Given the description of an element on the screen output the (x, y) to click on. 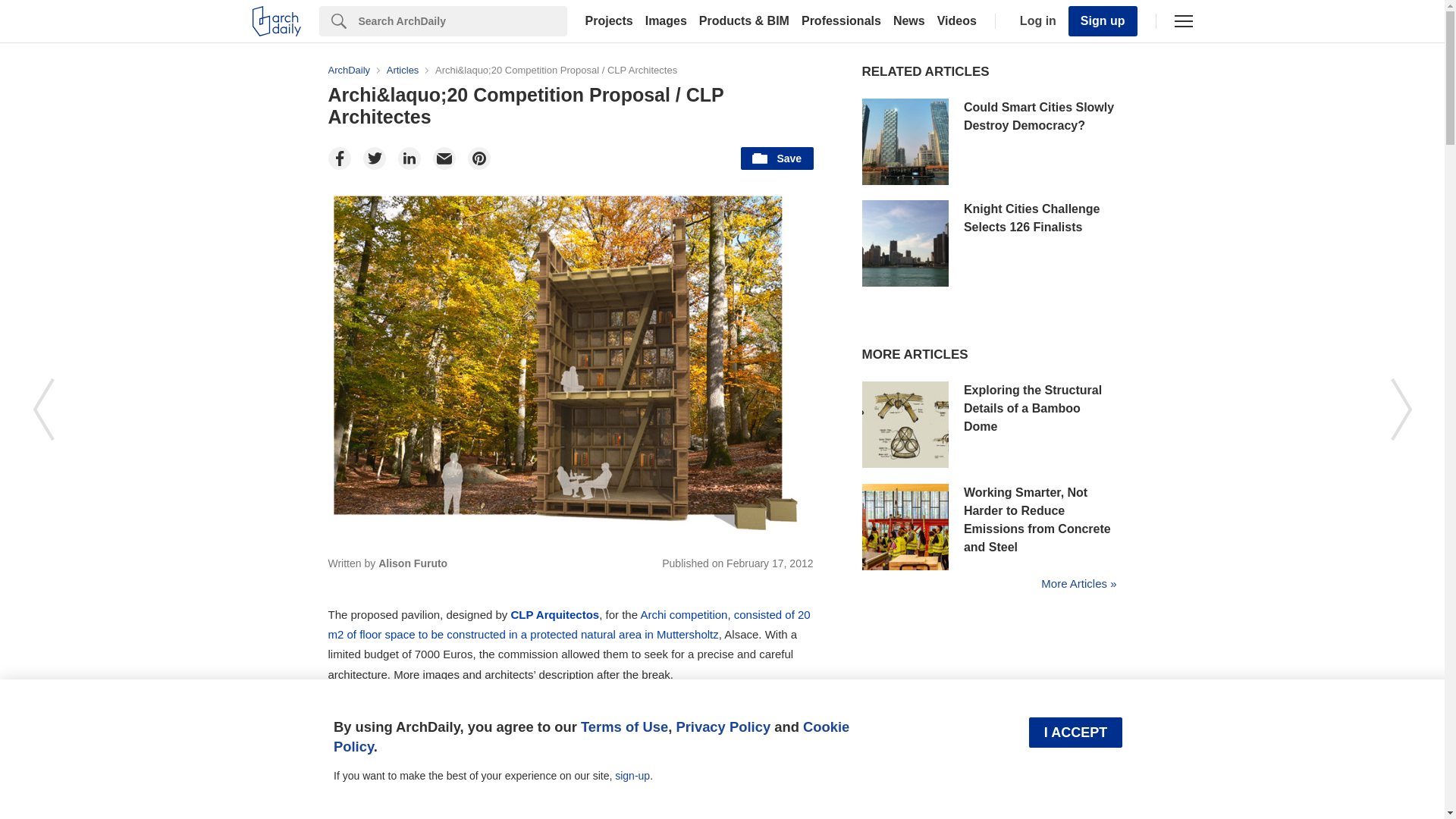
Professionals (840, 21)
Videos (956, 21)
Sign up (1102, 20)
Log in (1035, 20)
Images (666, 21)
News (908, 21)
Projects (609, 21)
